Given the description of an element on the screen output the (x, y) to click on. 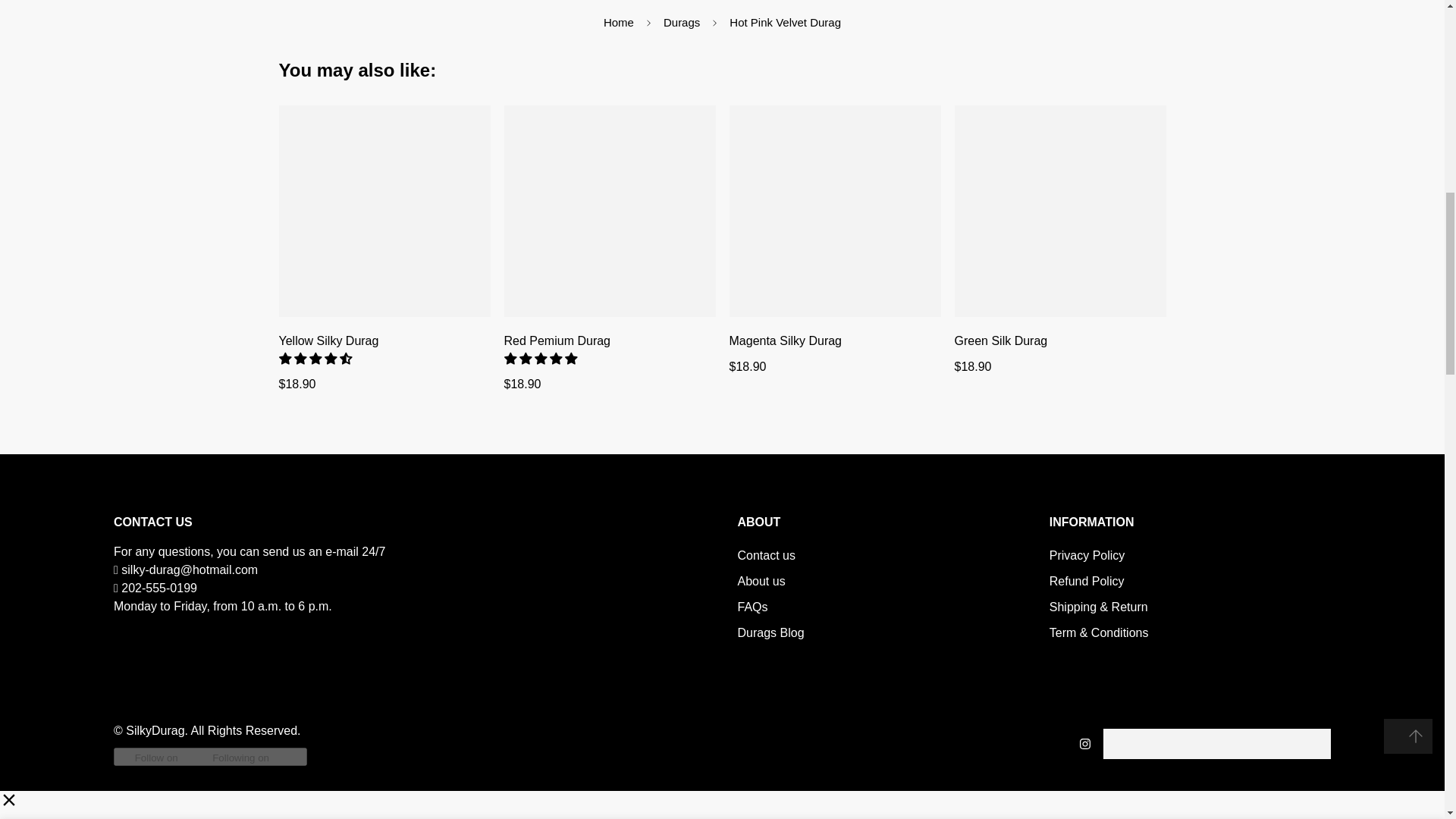
Back to the home page (618, 23)
1 (923, 28)
Phone Number (158, 587)
